Given the description of an element on the screen output the (x, y) to click on. 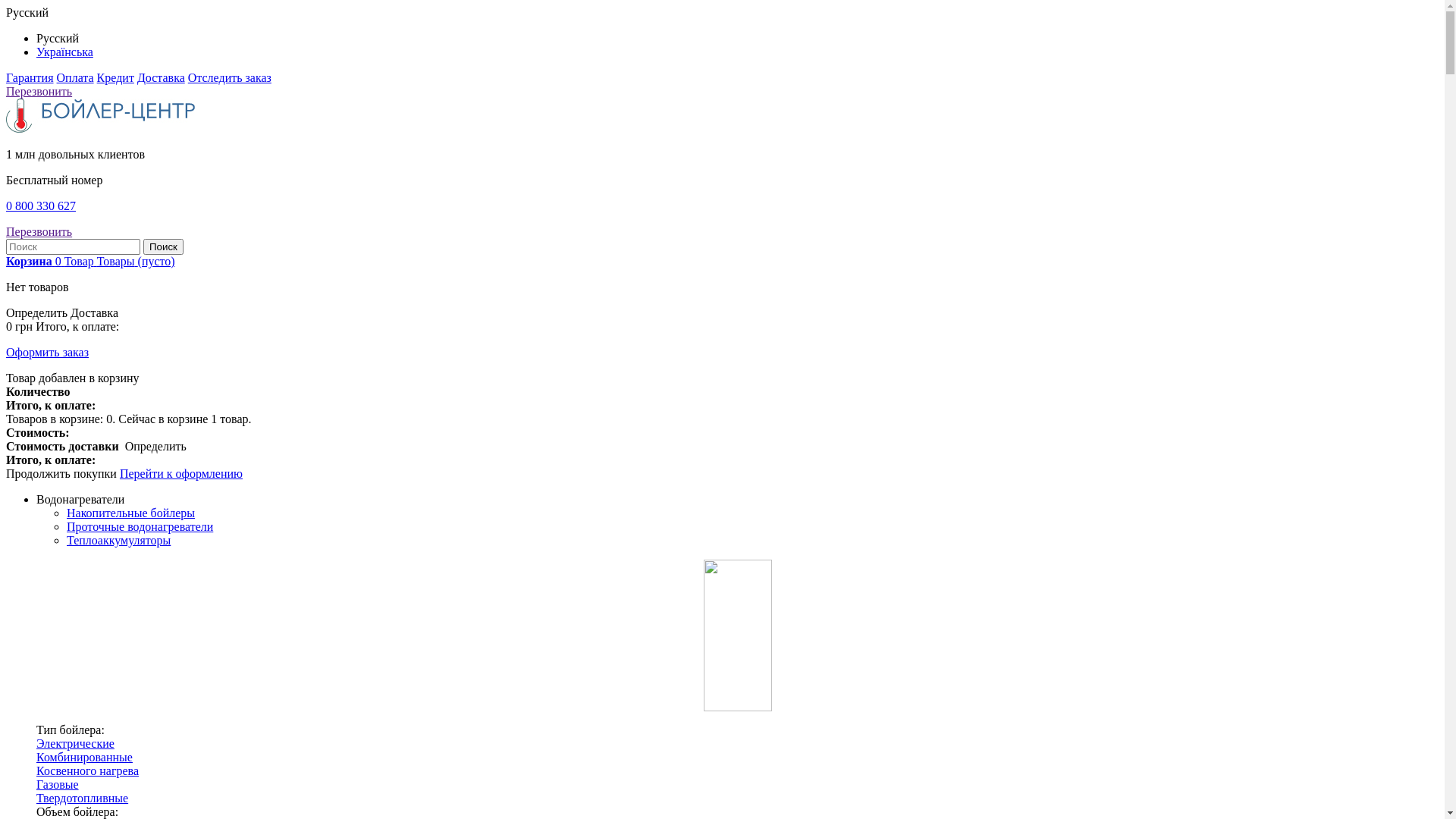
0 800 330 627 Element type: text (40, 205)
Boiler Center Element type: hover (100, 128)
